Given the description of an element on the screen output the (x, y) to click on. 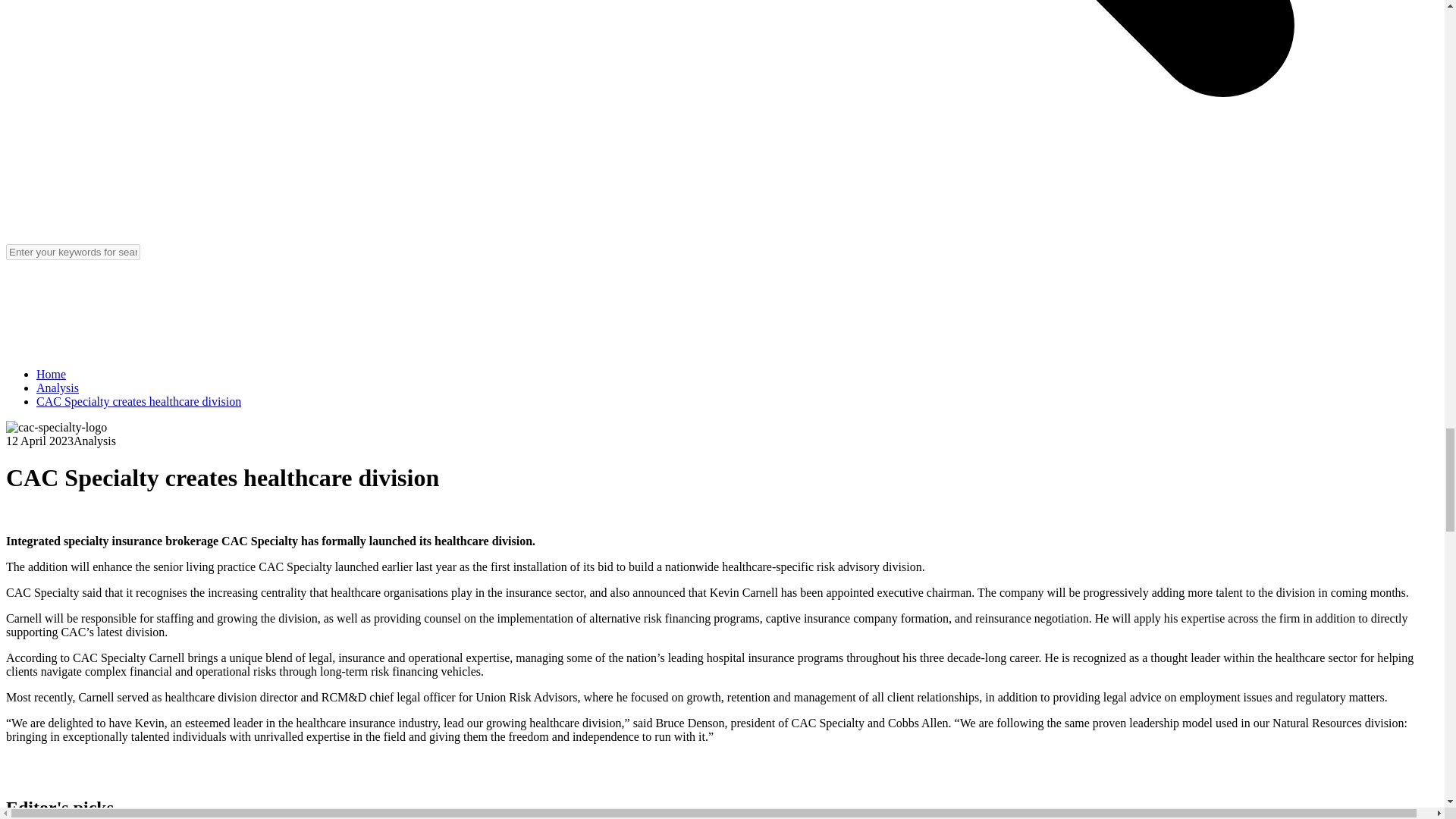
CAC Specialty creates healthcare division (138, 400)
Home (50, 373)
Analysis (57, 387)
